Given the description of an element on the screen output the (x, y) to click on. 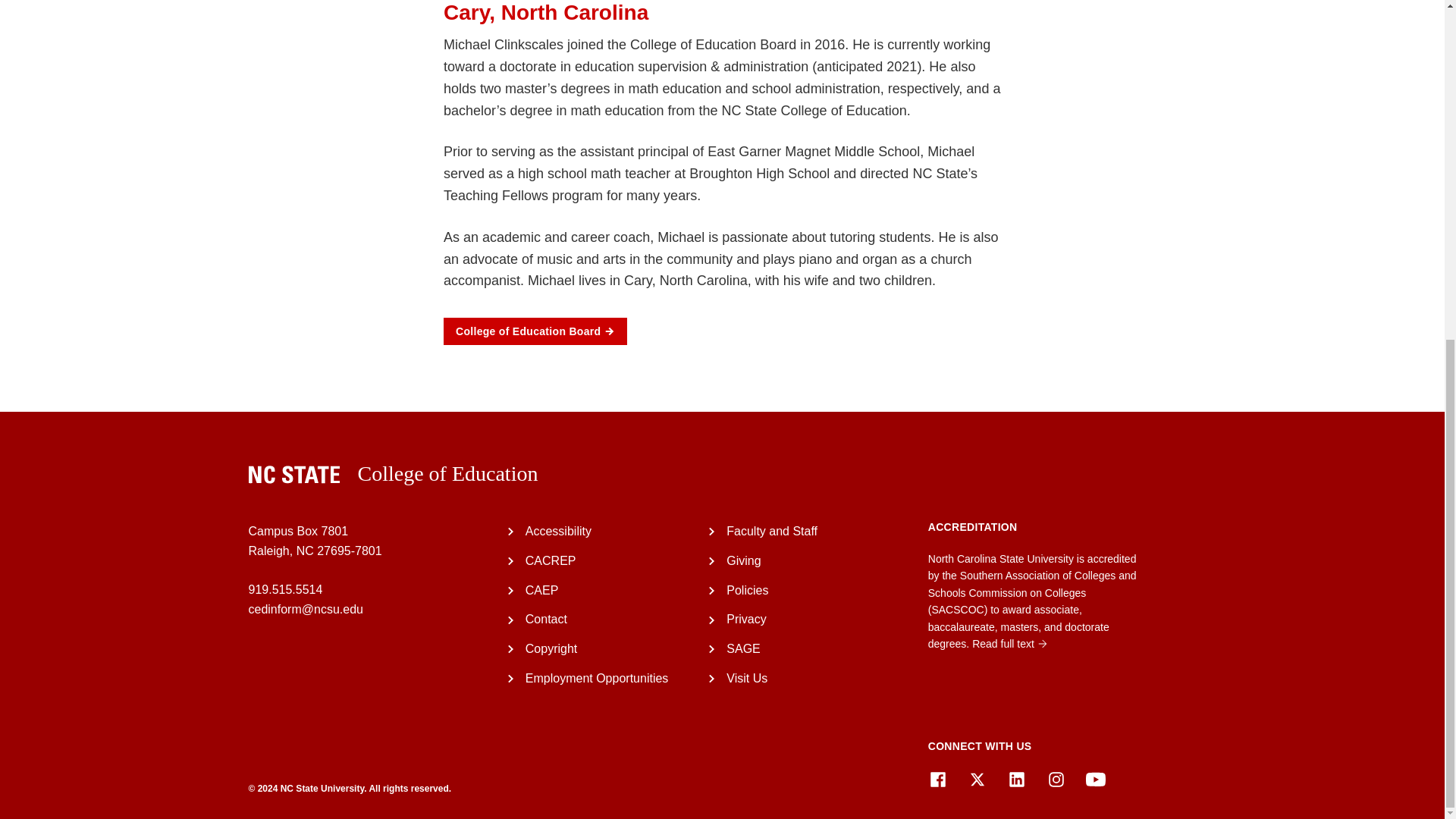
Facebook (937, 779)
X (977, 779)
YouTube (1095, 779)
LinkedIn (1016, 779)
Instagram (1055, 779)
